Given the description of an element on the screen output the (x, y) to click on. 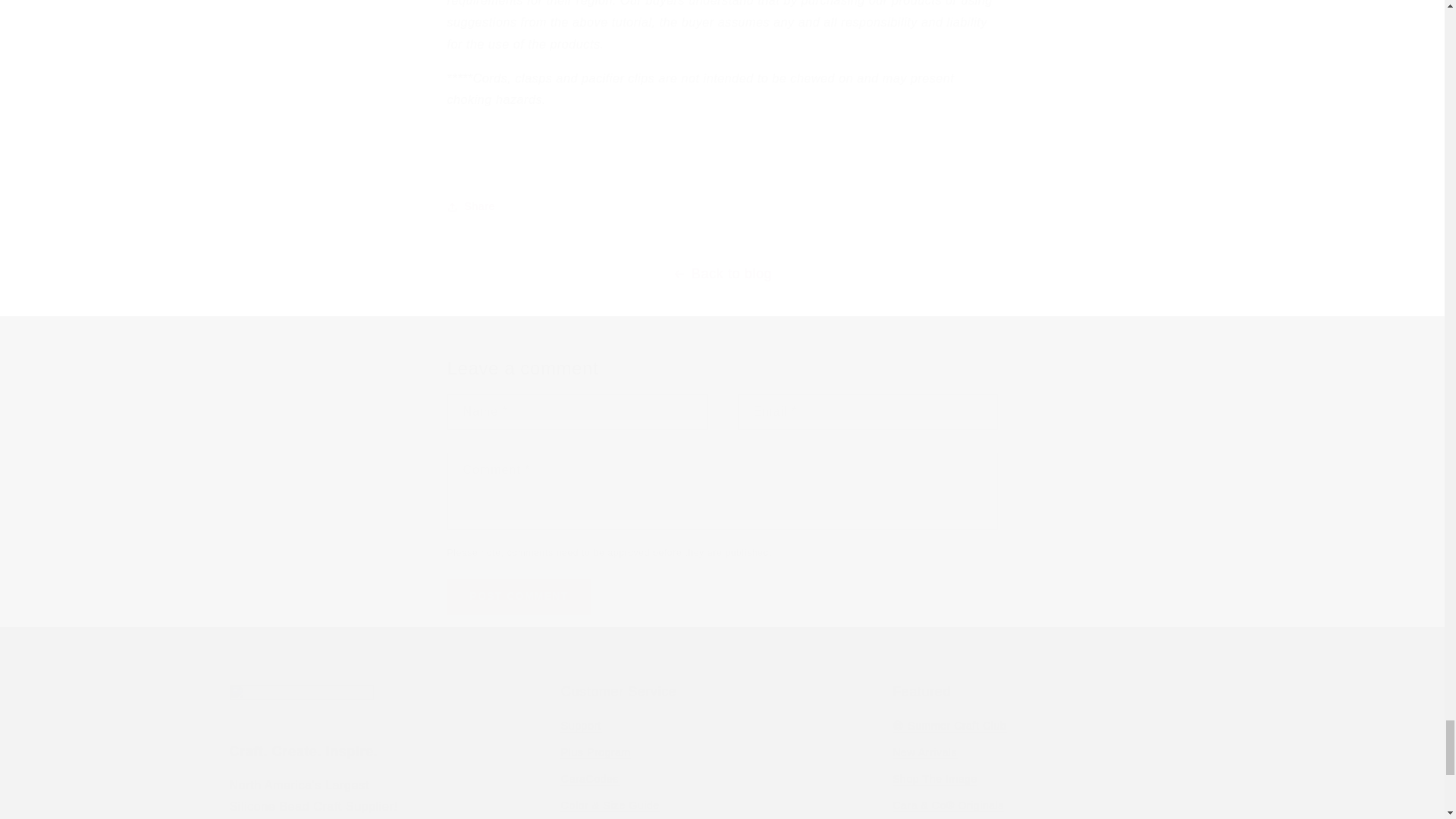
Post comment (518, 597)
Share (721, 206)
